Given the description of an element on the screen output the (x, y) to click on. 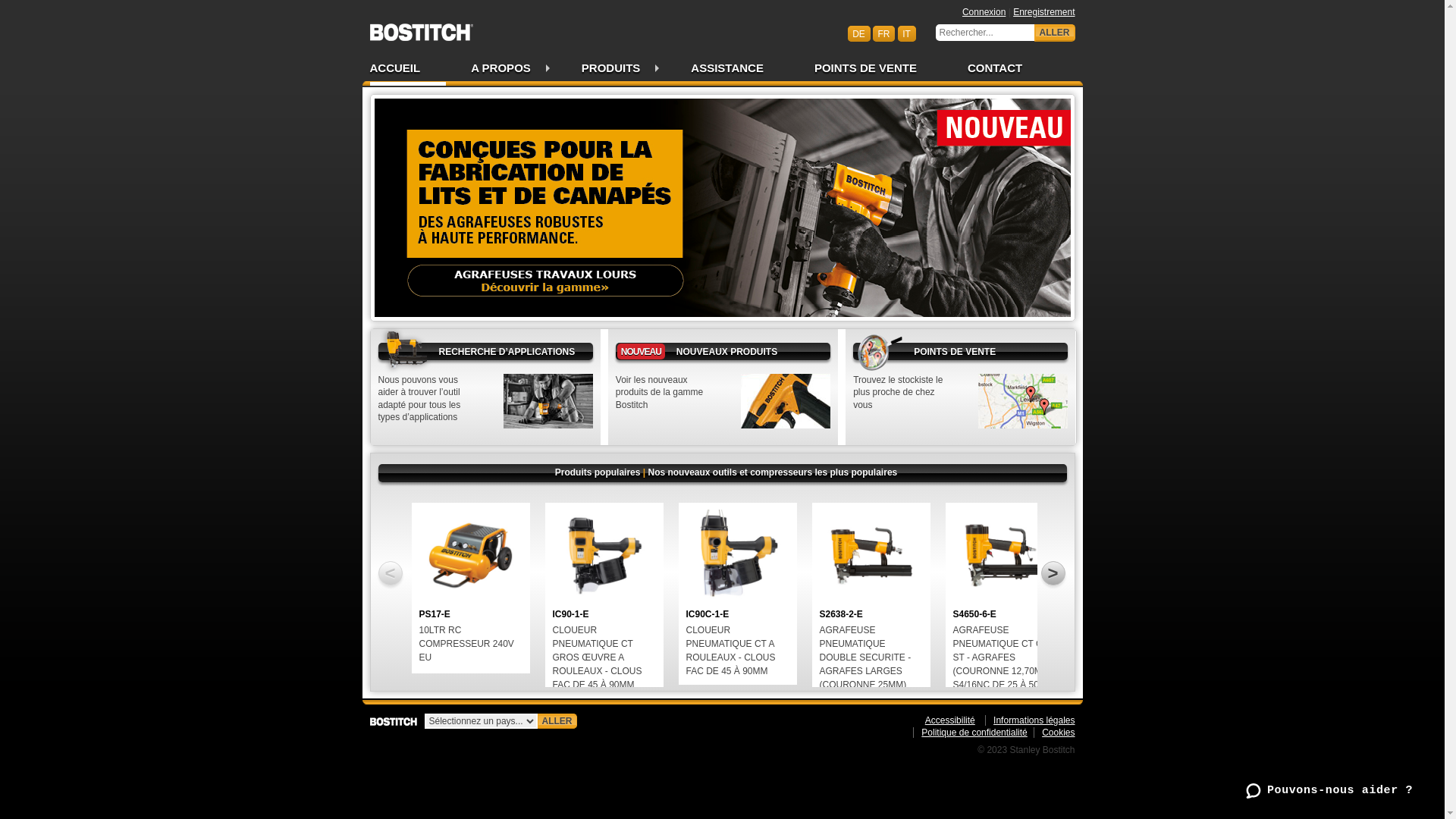
POINTS DE VENTE Element type: text (865, 69)
A PROPOS Element type: text (500, 69)
PS17-E
10LTR RC COMPRESSEUR 240V EU Element type: text (470, 587)
ACCUEIL Element type: text (408, 69)
IT Element type: text (906, 33)
Connexion Element type: text (983, 11)
ASSISTANCE Element type: text (727, 69)
Bostitch CHFR Element type: text (421, 26)
ALLER Element type: text (556, 720)
Cookies Element type: text (1053, 732)
Enregistrement Element type: text (1043, 11)
DE Element type: text (858, 33)
CONTACT Element type: text (982, 69)
ALLER Element type: text (1054, 32)
PRODUITS Element type: text (611, 69)
FR Element type: text (883, 33)
